Given the description of an element on the screen output the (x, y) to click on. 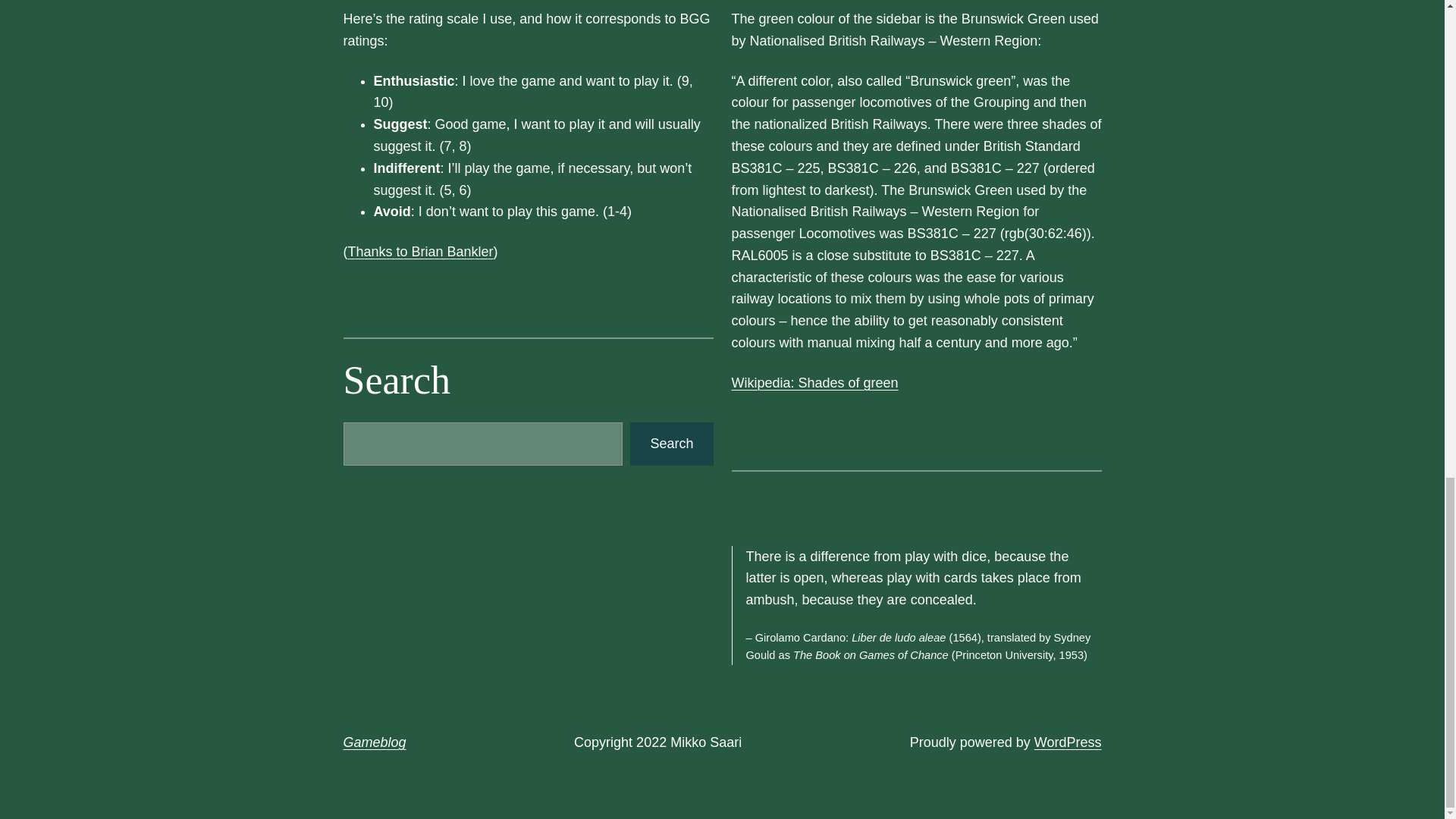
Thanks to Brian Bankler (420, 251)
Wikipedia: Shades of green (814, 382)
Gameblog (374, 742)
Search (671, 444)
WordPress (1067, 742)
